Given the description of an element on the screen output the (x, y) to click on. 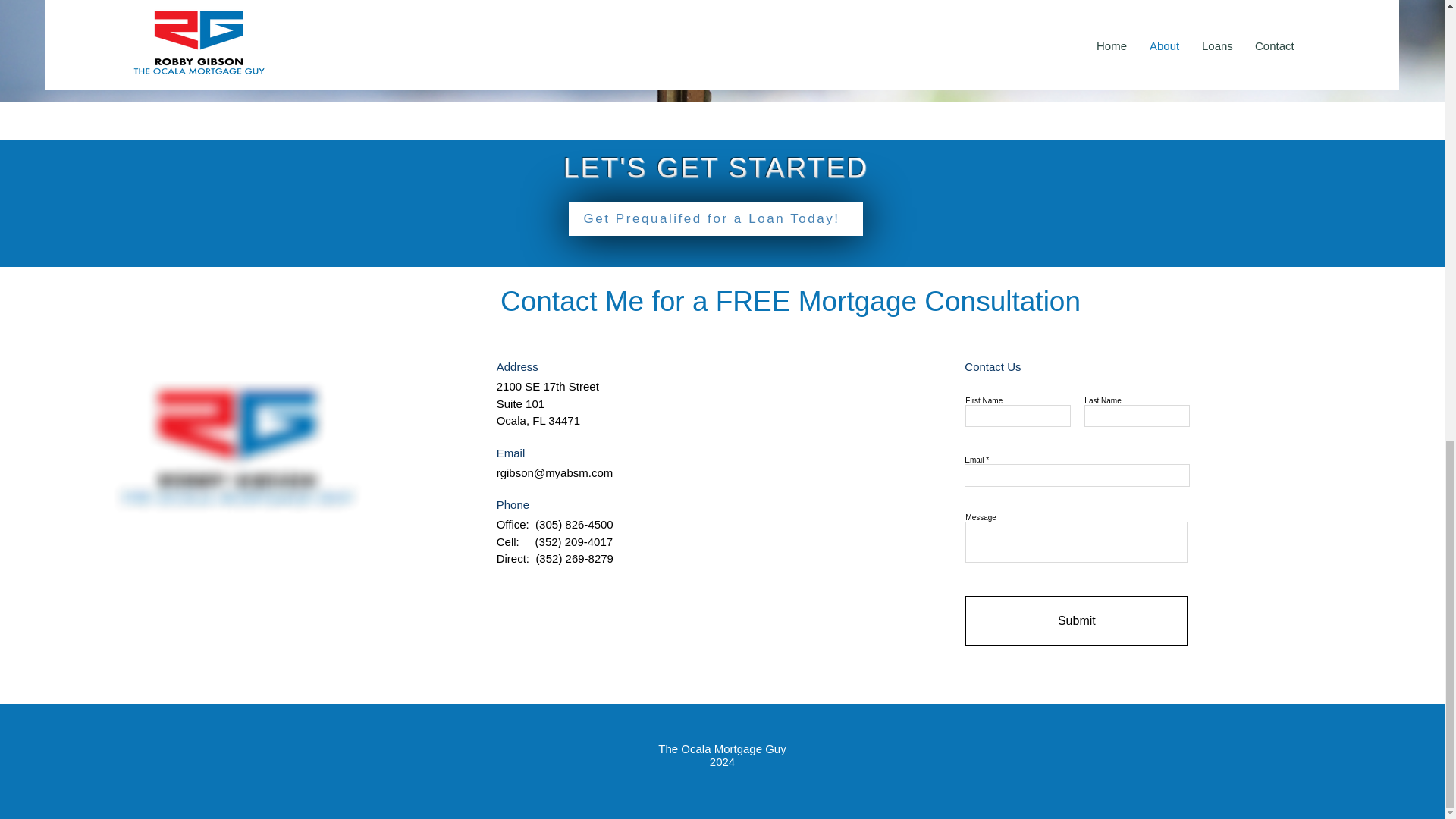
ocalamortgageguy.png (236, 447)
Submit (1076, 621)
Get Prequalifed for a Loan Today! (716, 218)
